Given the description of an element on the screen output the (x, y) to click on. 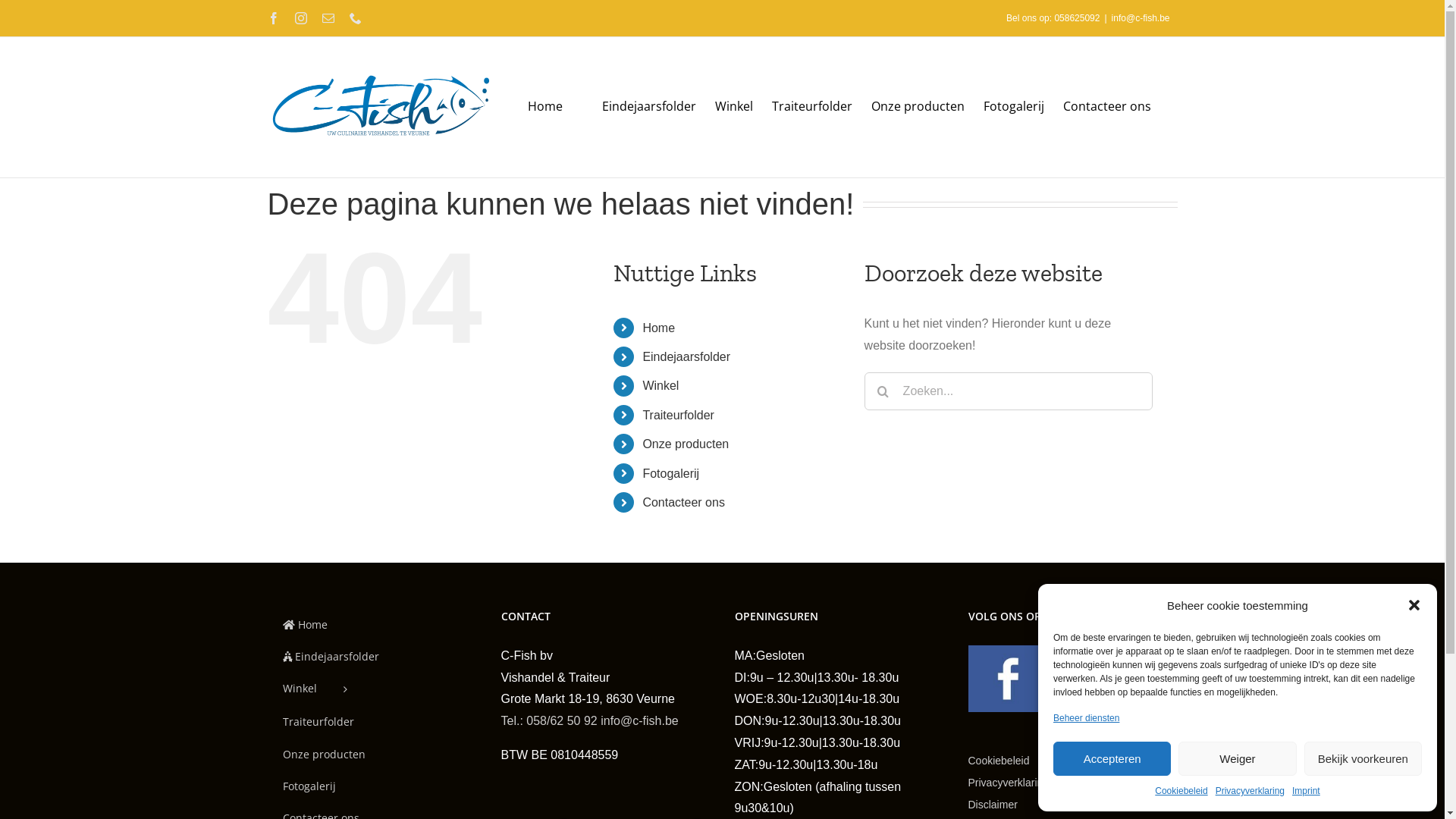
info@c-fish.be Element type: text (639, 720)
Imprint Element type: text (1125, 782)
Cookiebeleid Element type: text (1180, 791)
info@c-fish.be Element type: text (1140, 17)
Beheer diensten Element type: text (1086, 718)
Home Element type: text (370, 624)
Privacyverklaring Element type: text (1249, 791)
Fotogalerij Element type: text (670, 473)
Facebook Element type: text (272, 18)
Bekijk voorkeuren Element type: text (1362, 758)
Winkel Element type: text (370, 689)
Home Element type: text (534, 105)
Eindejaarsfolder Element type: text (370, 656)
Weiger Element type: text (1236, 758)
Onze producten Element type: text (370, 754)
Tel.: 058/62 50 92 Element type: text (548, 720)
Winkel Element type: text (733, 105)
Traiteurfolder Element type: text (811, 105)
Traiteurfolder Element type: text (370, 721)
Eindejaarsfolder Element type: text (638, 105)
Onze producten Element type: text (916, 105)
Instagram Element type: text (300, 18)
Onze producten Element type: text (685, 443)
Cookiebeleid Element type: text (1018, 760)
Fotogalerij Element type: text (370, 786)
Contacteer ons Element type: text (1107, 105)
Imprint Element type: text (1306, 791)
Accepteren Element type: text (1111, 758)
Contacteer ons Element type: text (683, 501)
E-mail Element type: text (327, 18)
Privacyverklaring Element type: text (1027, 782)
Winkel Element type: text (660, 385)
Phone Element type: text (354, 18)
Home Element type: text (658, 327)
Disclaimer Element type: text (991, 804)
Traiteurfolder Element type: text (678, 414)
Fotogalerij Element type: text (1012, 105)
Eindejaarsfolder Element type: text (686, 356)
